Given the description of an element on the screen output the (x, y) to click on. 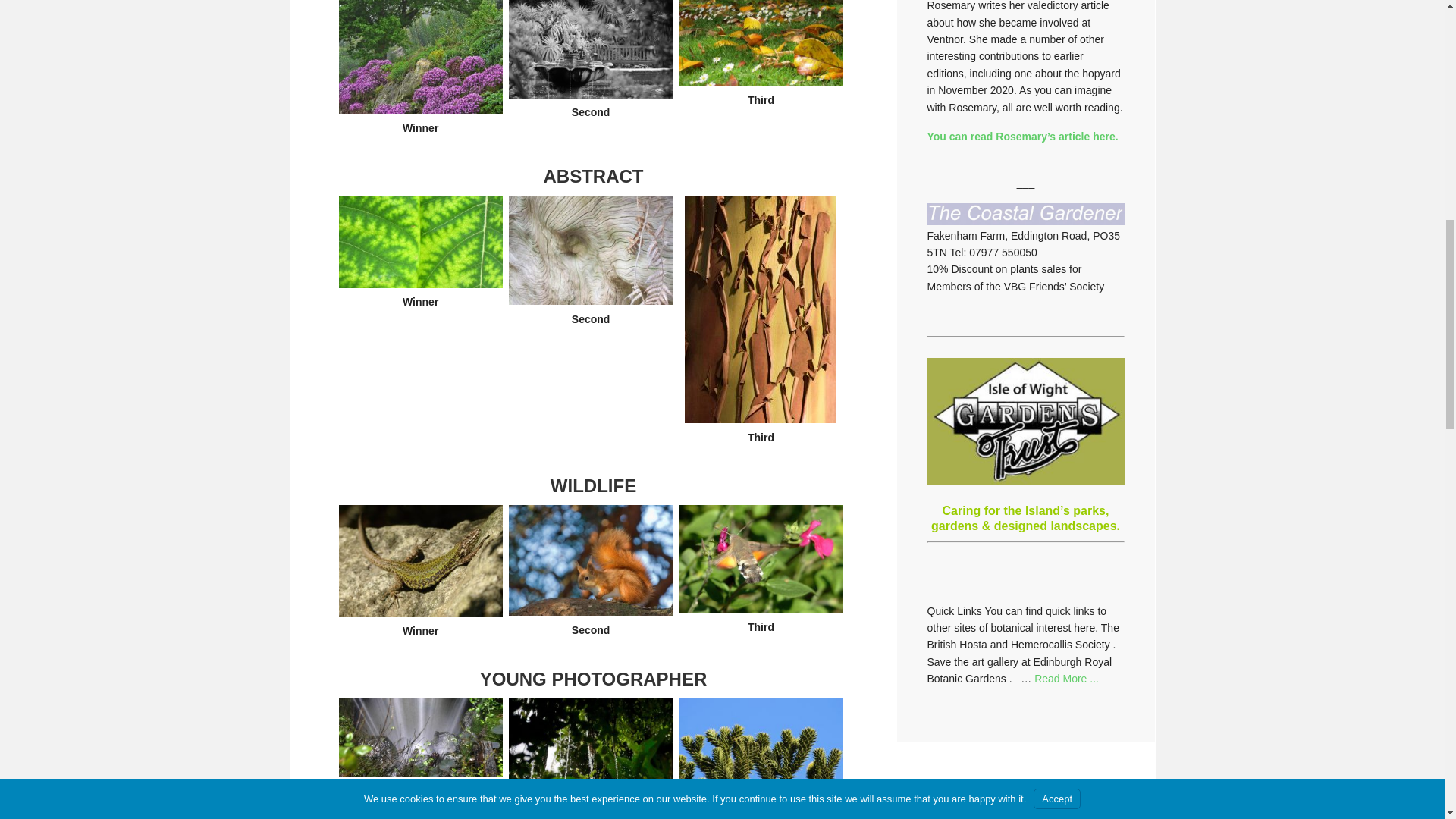
Read More ... (1066, 678)
